Given the description of an element on the screen output the (x, y) to click on. 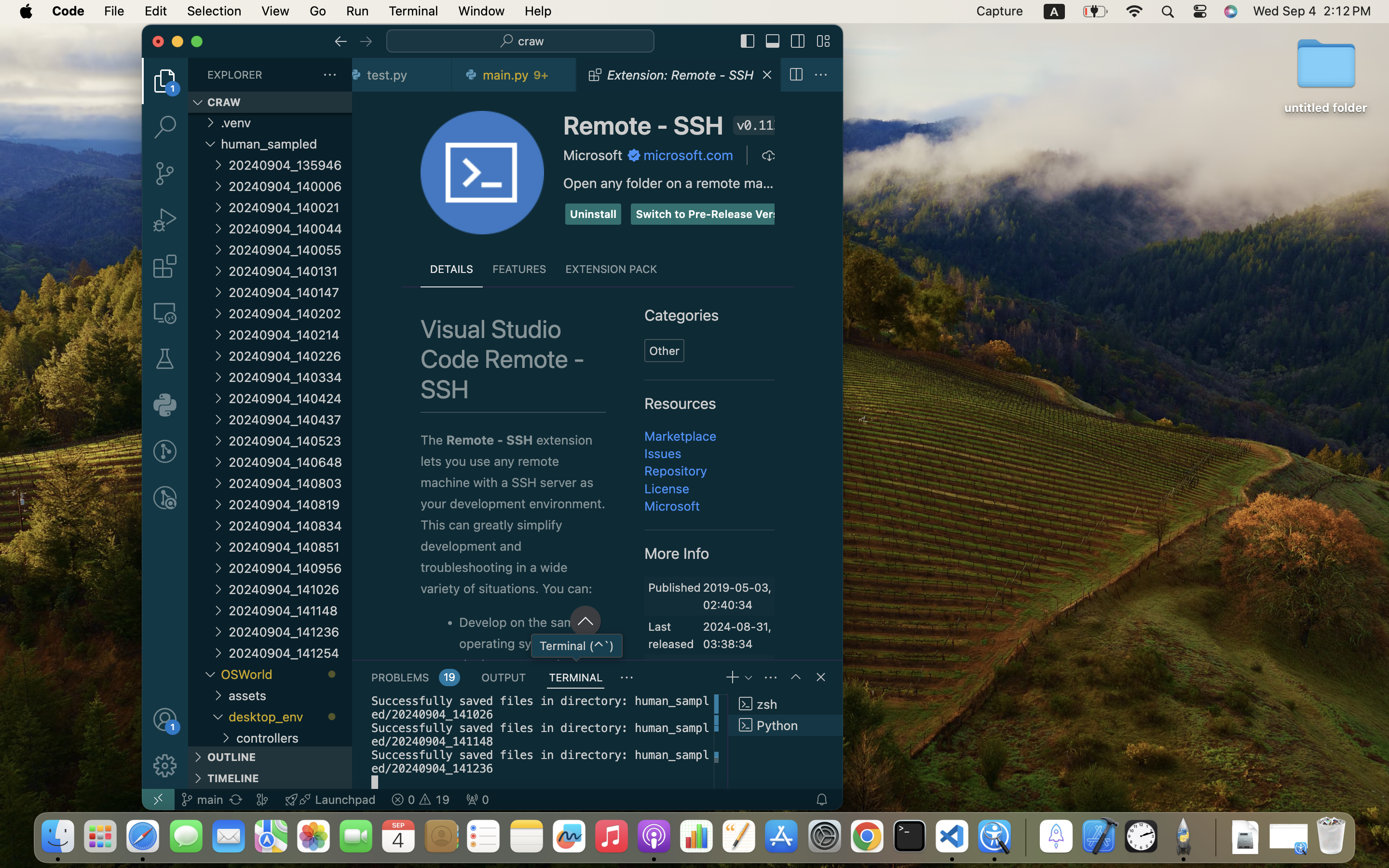
20240904_140851 Element type: AXGroup (290, 546)
 Element type: AXGroup (768, 154)
 Element type: AXButton (820, 676)
0  Element type: AXRadioButton (164, 358)
2024-08-31, 03:38:34 Element type: AXStaticText (737, 635)
